Given the description of an element on the screen output the (x, y) to click on. 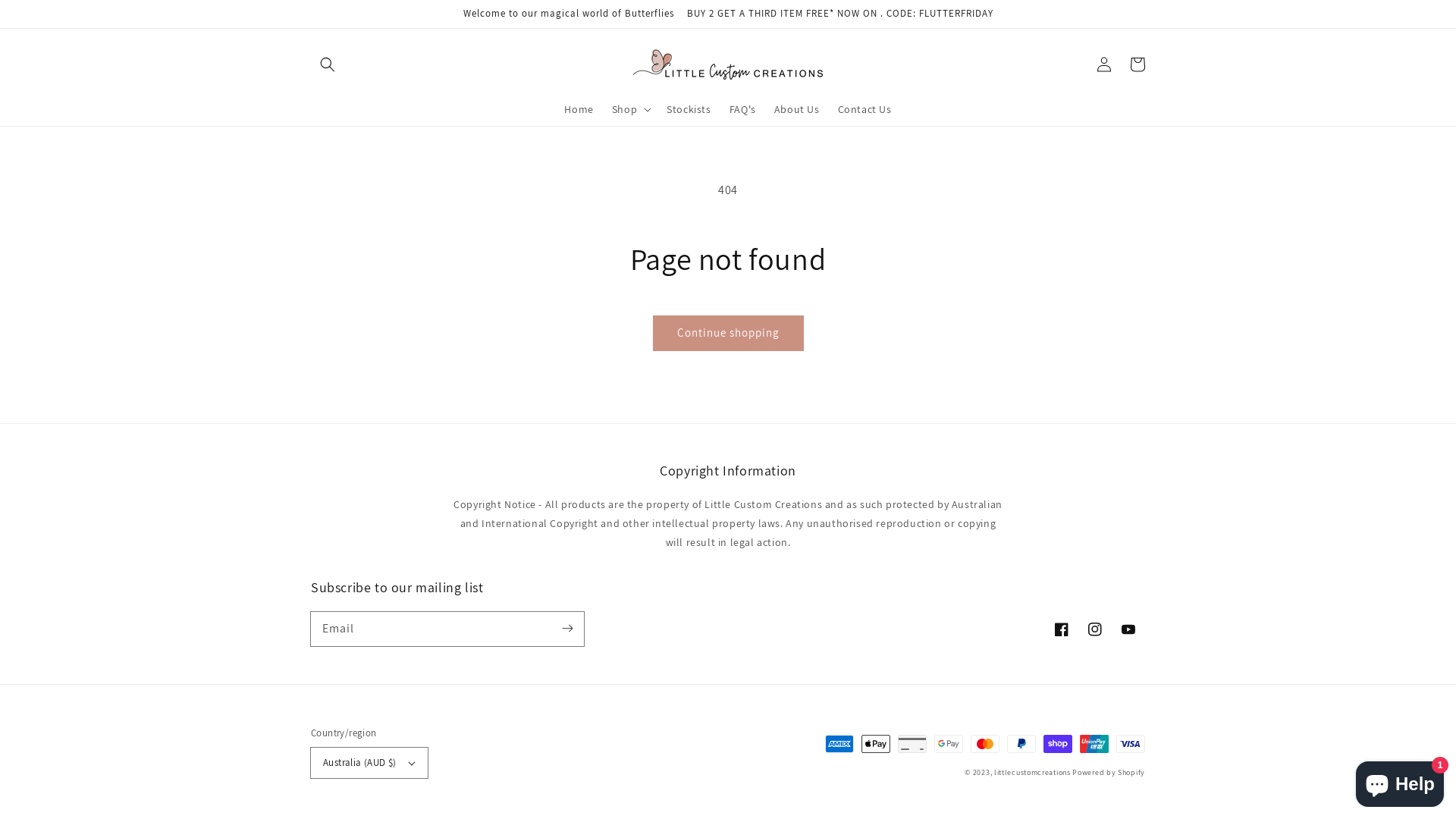
YouTube Element type: text (1128, 629)
Shopify online store chat Element type: hover (1399, 780)
Log in Element type: text (1103, 64)
Stockists Element type: text (688, 109)
Powered by Shopify Element type: text (1108, 772)
Australia (AUD $) Element type: text (368, 762)
Facebook Element type: text (1061, 629)
FAQ's Element type: text (742, 109)
Home Element type: text (578, 109)
About Us Element type: text (796, 109)
littlecustomcreations Element type: text (1032, 772)
Contact Us Element type: text (864, 109)
Continue shopping Element type: text (728, 333)
Instagram Element type: text (1094, 629)
Cart Element type: text (1137, 64)
